Given the description of an element on the screen output the (x, y) to click on. 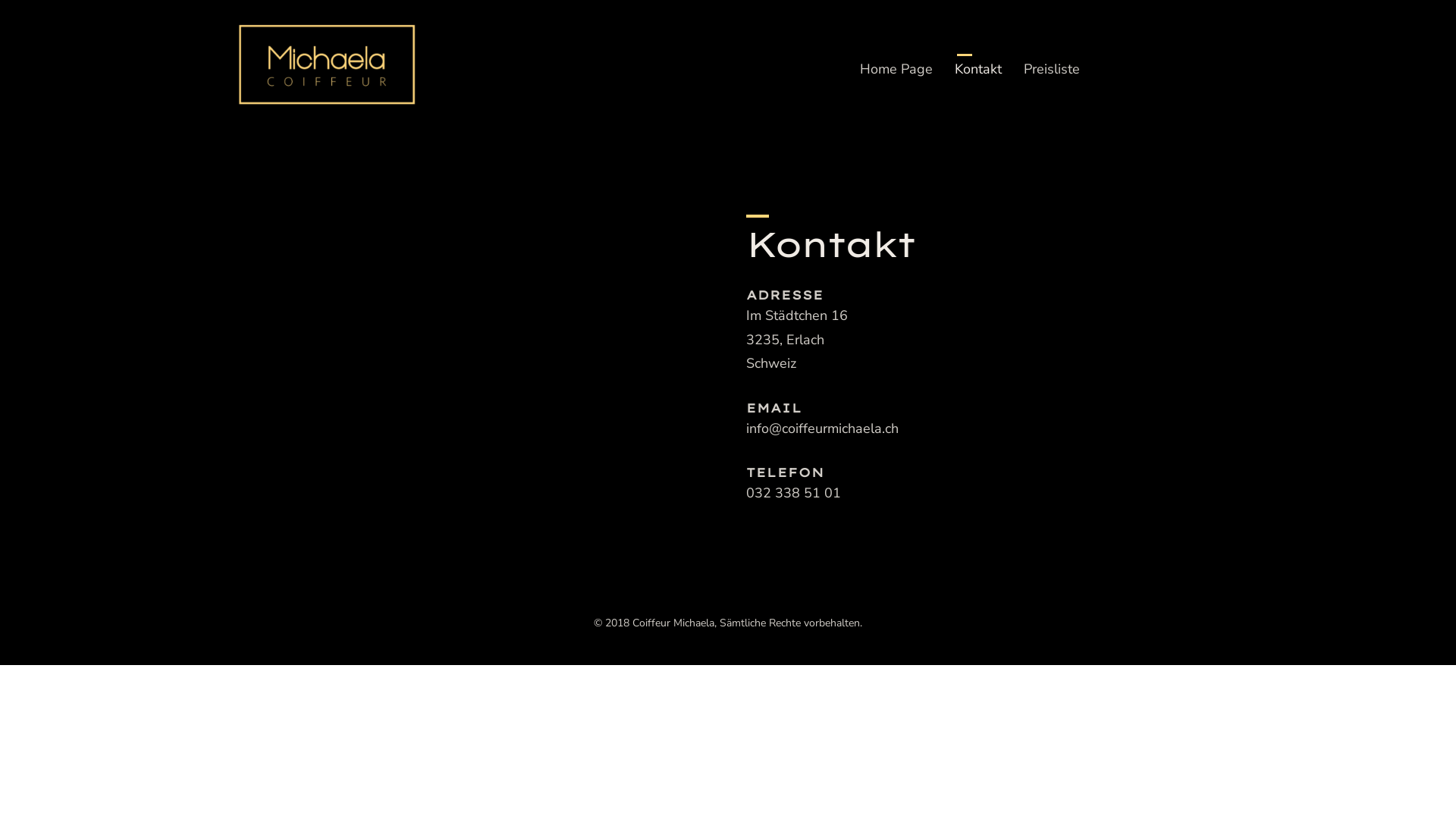
032 338 51 01 Element type: text (793, 493)
Kontakt Element type: text (977, 68)
Preisliste Element type: text (1051, 68)
info@coiffeurmichaela.ch Element type: text (822, 428)
Home Page Element type: text (895, 68)
